Given the description of an element on the screen output the (x, y) to click on. 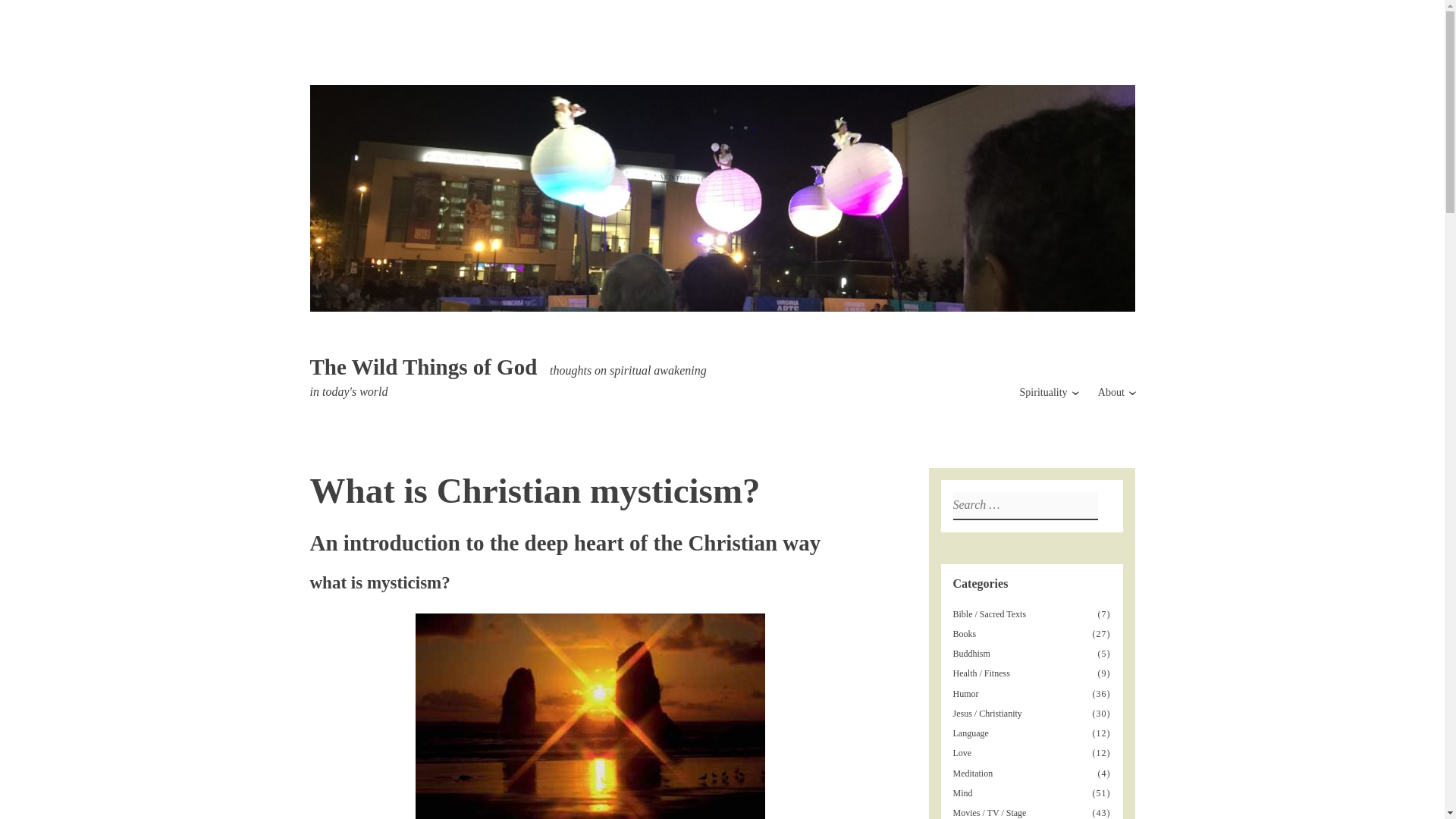
Books (965, 633)
Humor (966, 693)
Mind (963, 792)
Language (972, 733)
Love (963, 752)
Meditation (973, 773)
Spirituality (1043, 392)
About (1110, 392)
Search (17, 13)
The Wild Things of God (422, 366)
Buddhism (973, 653)
